Given the description of an element on the screen output the (x, y) to click on. 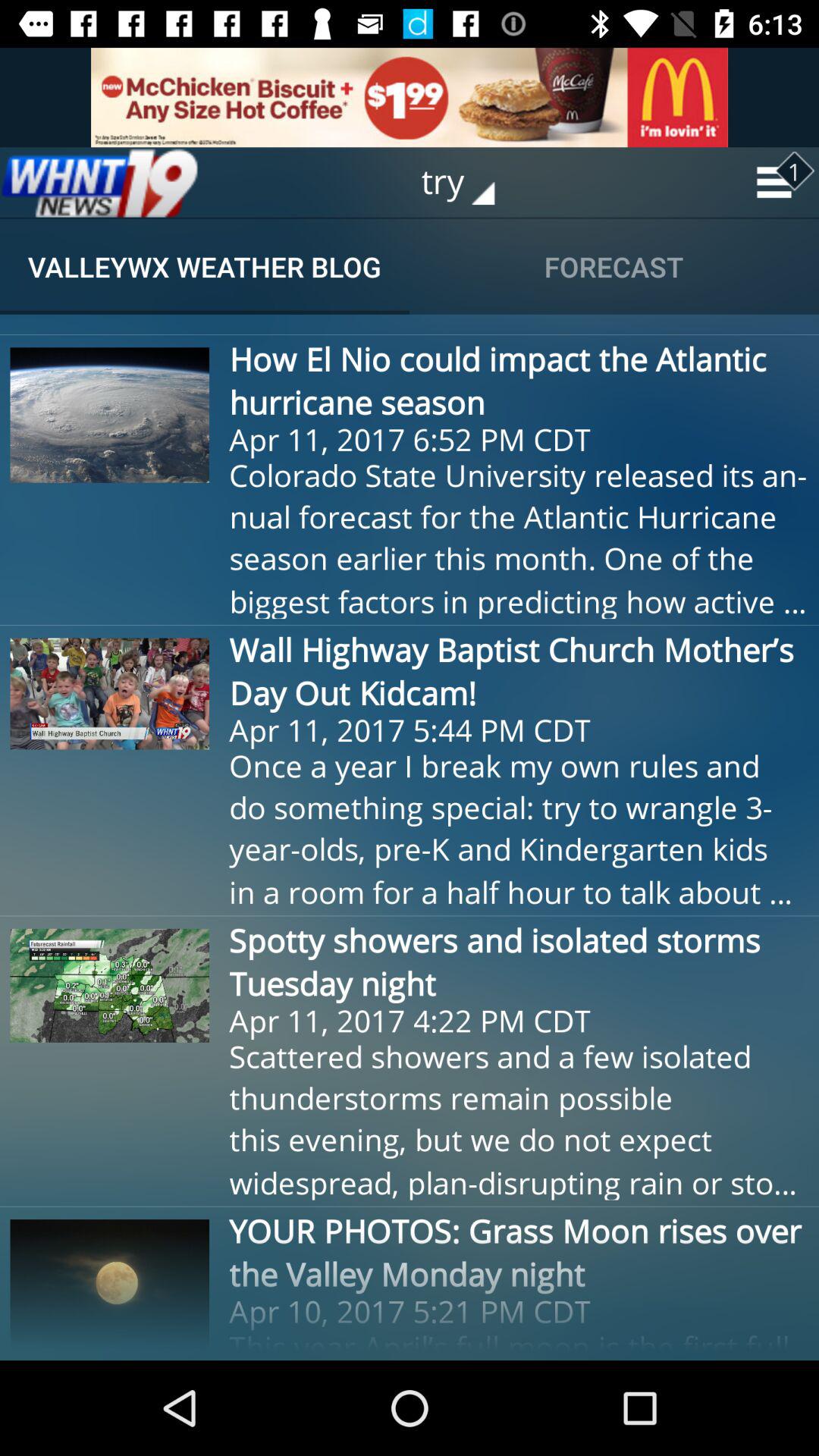
go to advertisement site (409, 97)
